Given the description of an element on the screen output the (x, y) to click on. 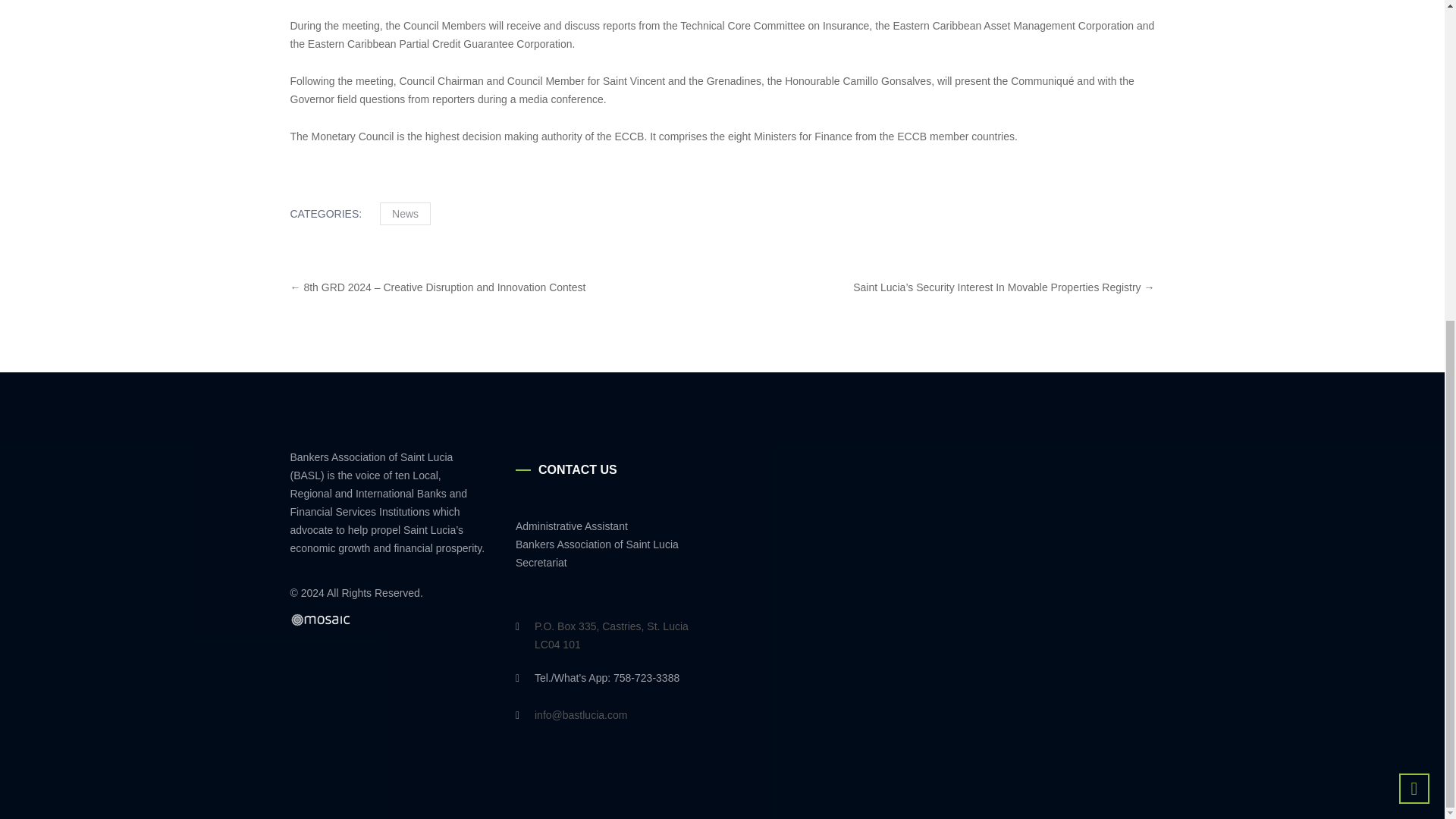
P.O. Box 335, Castries, St. Lucia LC04 101 (620, 635)
News (405, 213)
Website Design by Mosaic (319, 618)
Website Design by Mosaic (319, 619)
